Given the description of an element on the screen output the (x, y) to click on. 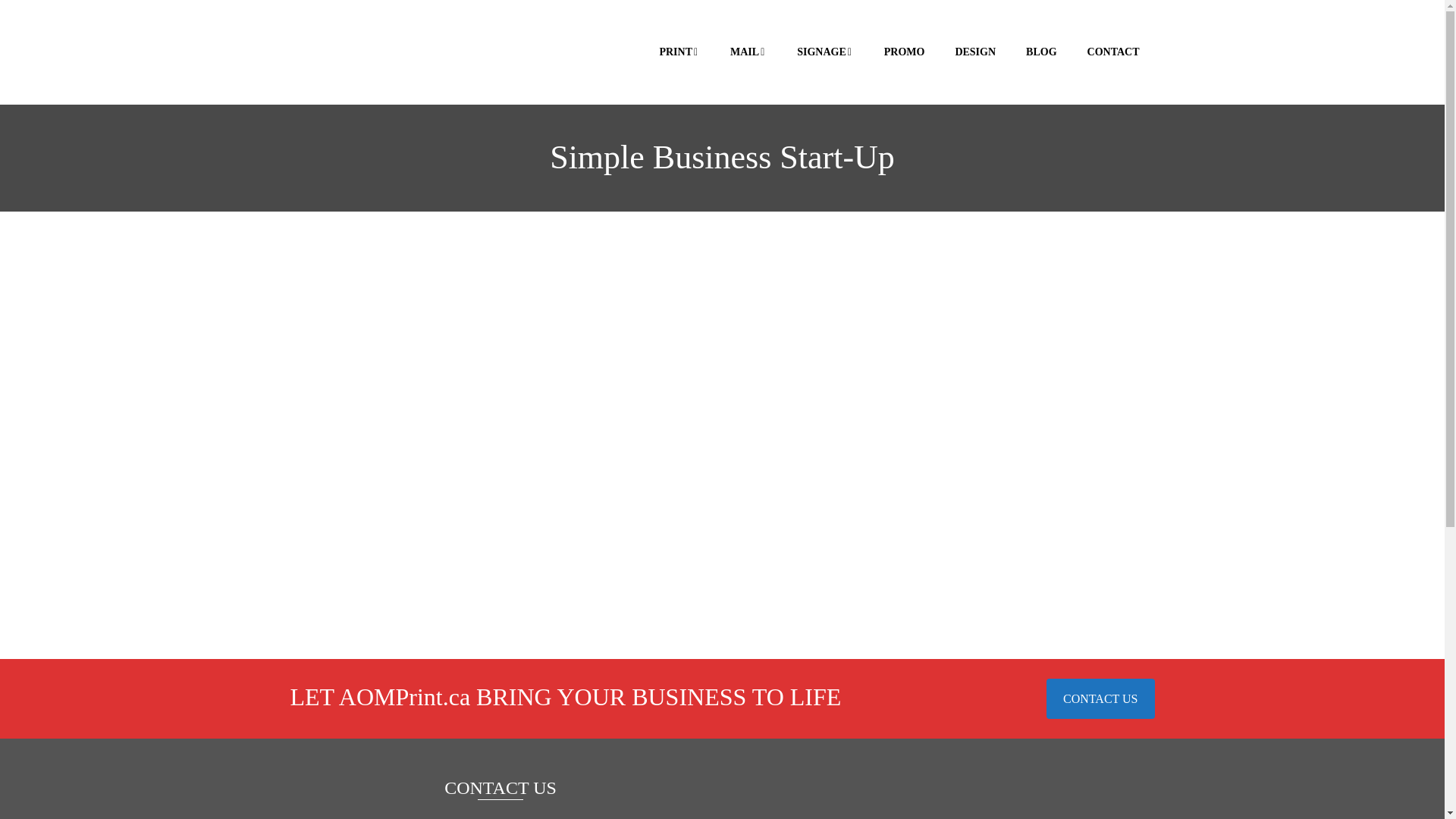
CONTACT Element type: text (1113, 52)
PROMO Element type: text (904, 52)
MAIL Element type: text (748, 52)
BLOG Element type: text (1040, 52)
CONTACT US Element type: text (1100, 698)
DESIGN Element type: text (974, 52)
SIGNAGE Element type: text (825, 52)
PRINT Element type: text (679, 52)
